Given the description of an element on the screen output the (x, y) to click on. 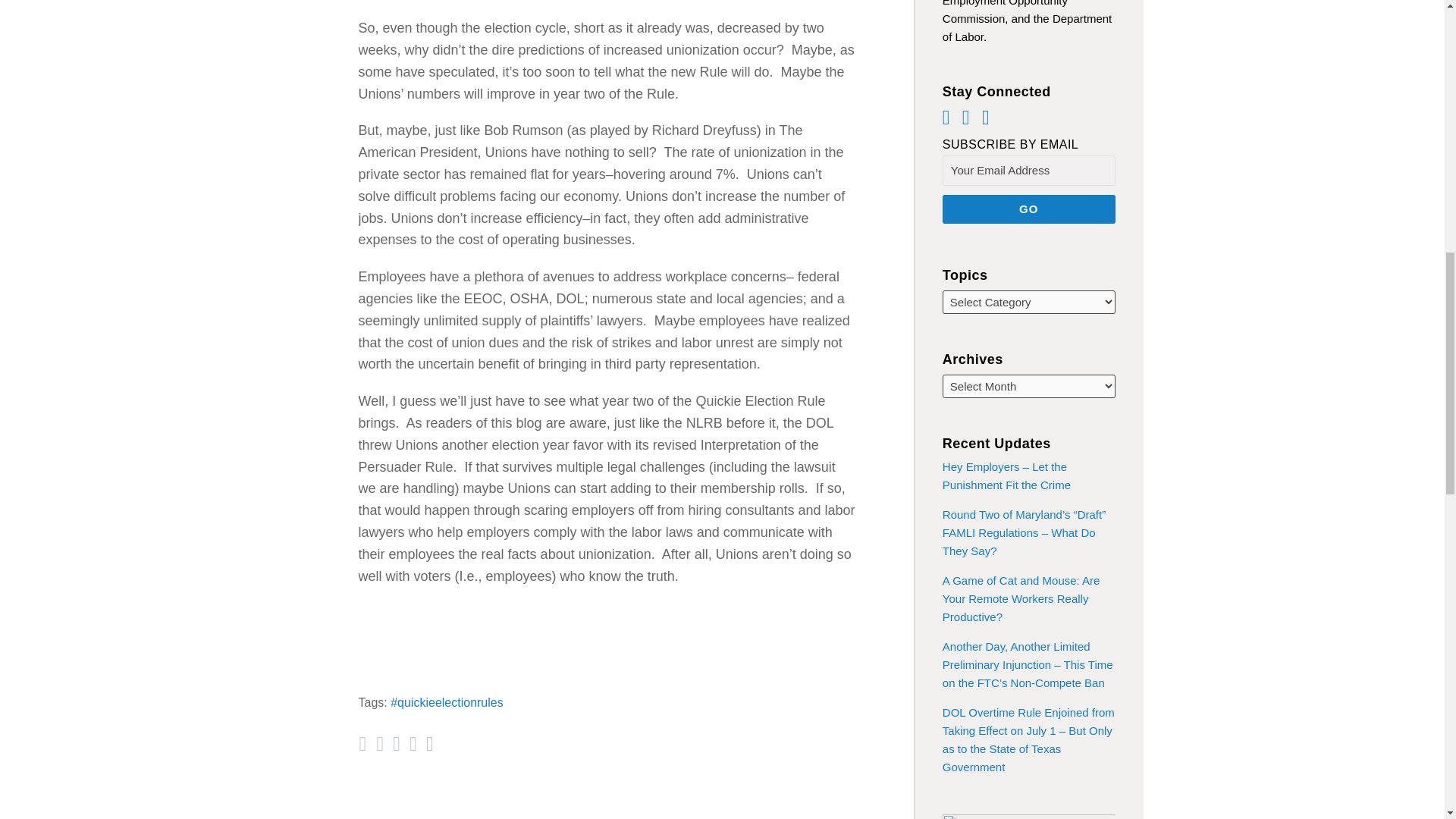
Shift-click to edit this widget. (1028, 22)
GO (1028, 208)
GO (1028, 208)
